Given the description of an element on the screen output the (x, y) to click on. 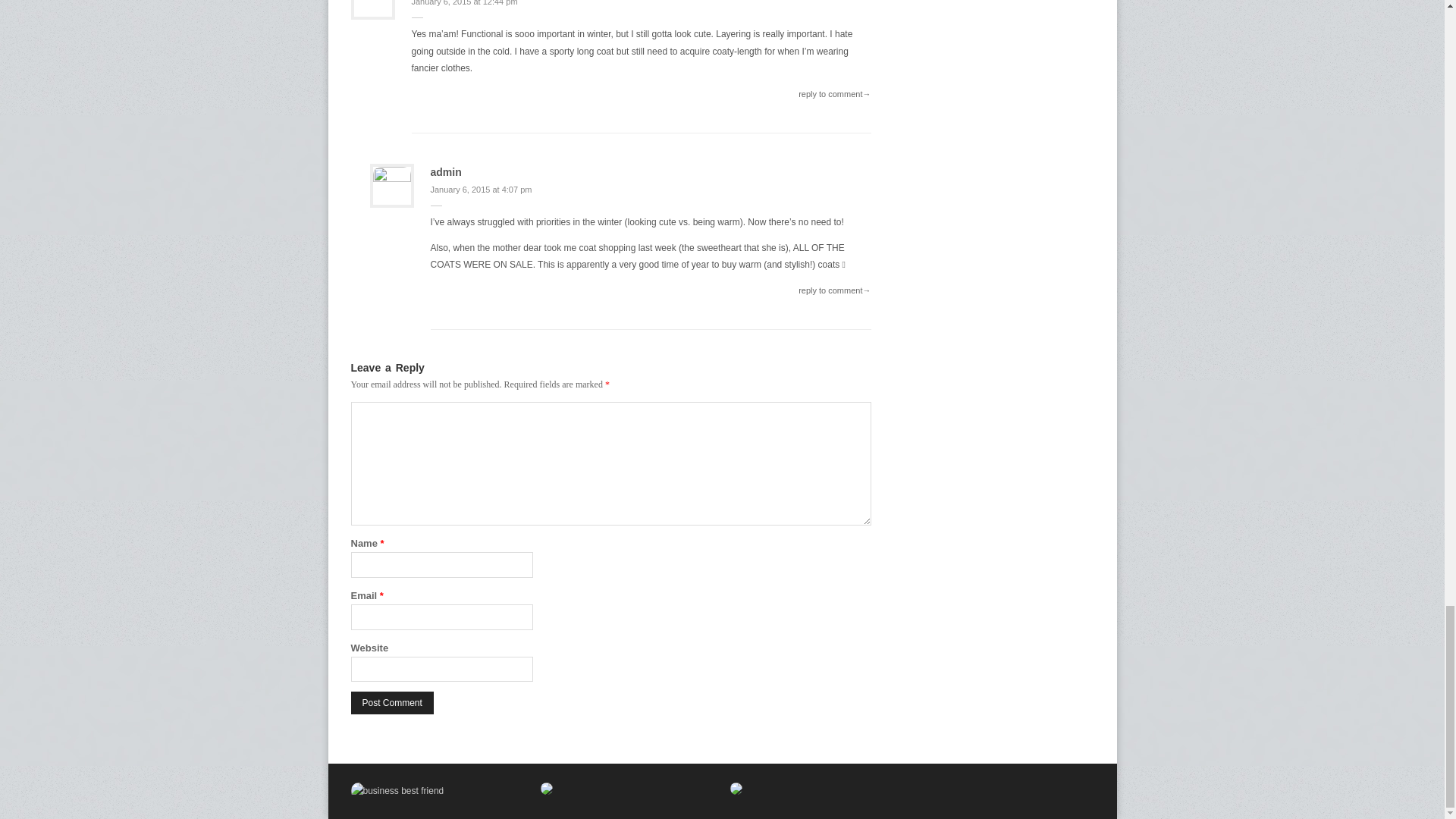
Post Comment (391, 702)
Post Comment (391, 702)
January 6, 2015 at 4:07 pm (481, 189)
January 6, 2015 at 12:44 pm (463, 2)
